Given the description of an element on the screen output the (x, y) to click on. 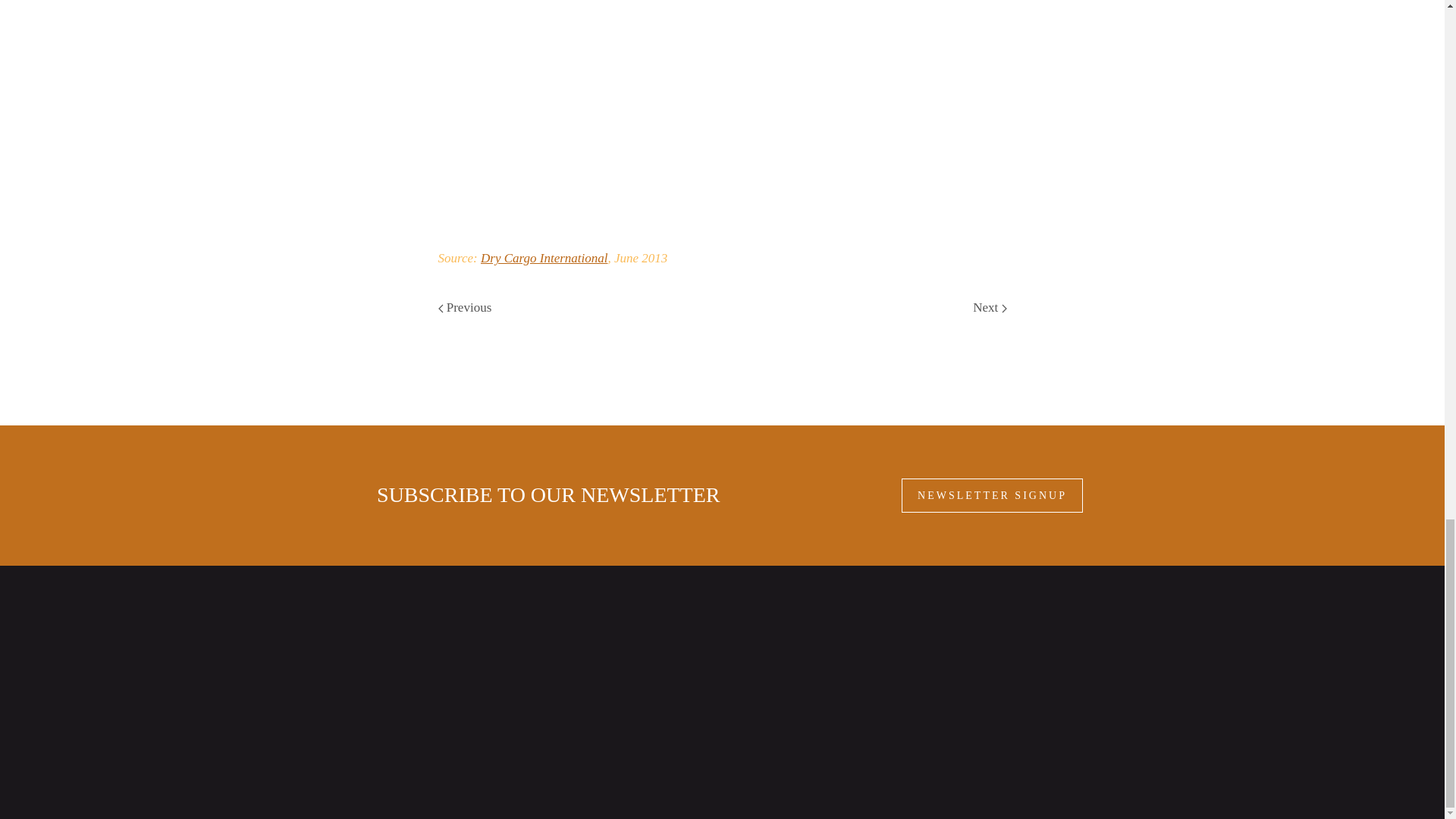
Dry Cargo International (543, 257)
